Given the description of an element on the screen output the (x, y) to click on. 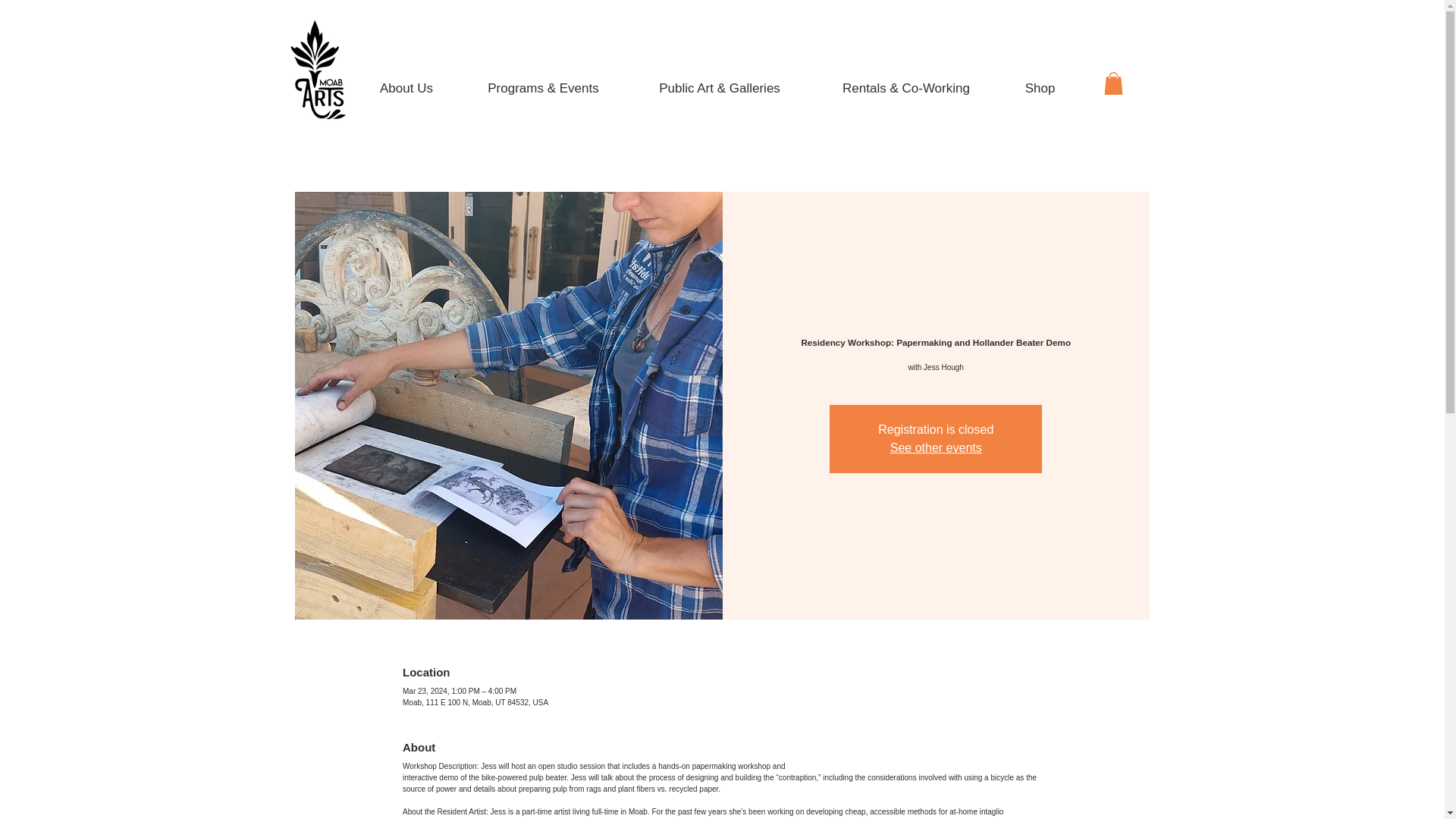
See other events (935, 447)
About Us (406, 81)
Shop (1039, 81)
